Given the description of an element on the screen output the (x, y) to click on. 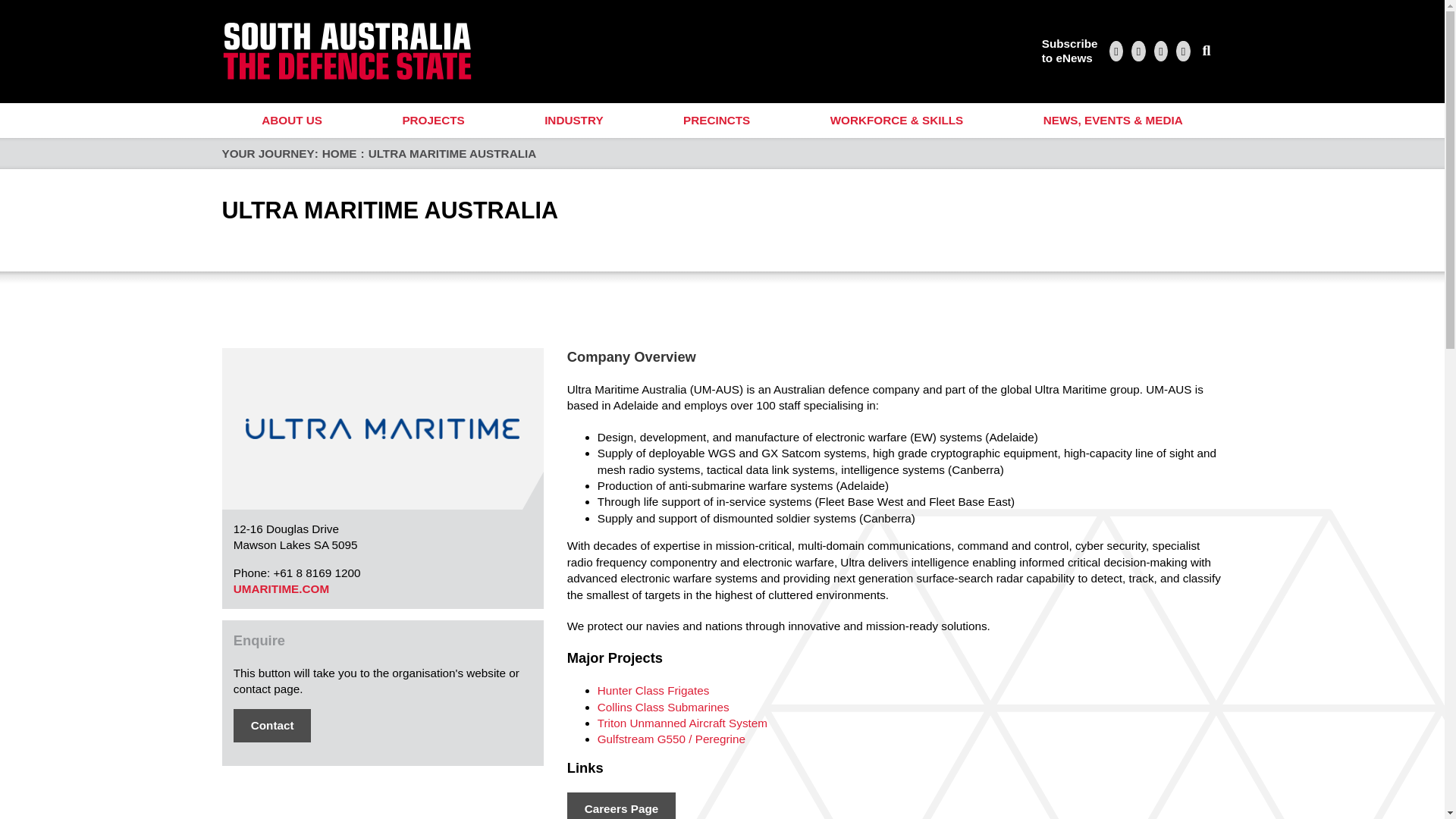
ABOUT US (291, 120)
Search (1207, 50)
Contact this organisation (271, 725)
Visit careers page (1069, 50)
PROJECTS (621, 805)
INDUSTRY (433, 120)
